Given the description of an element on the screen output the (x, y) to click on. 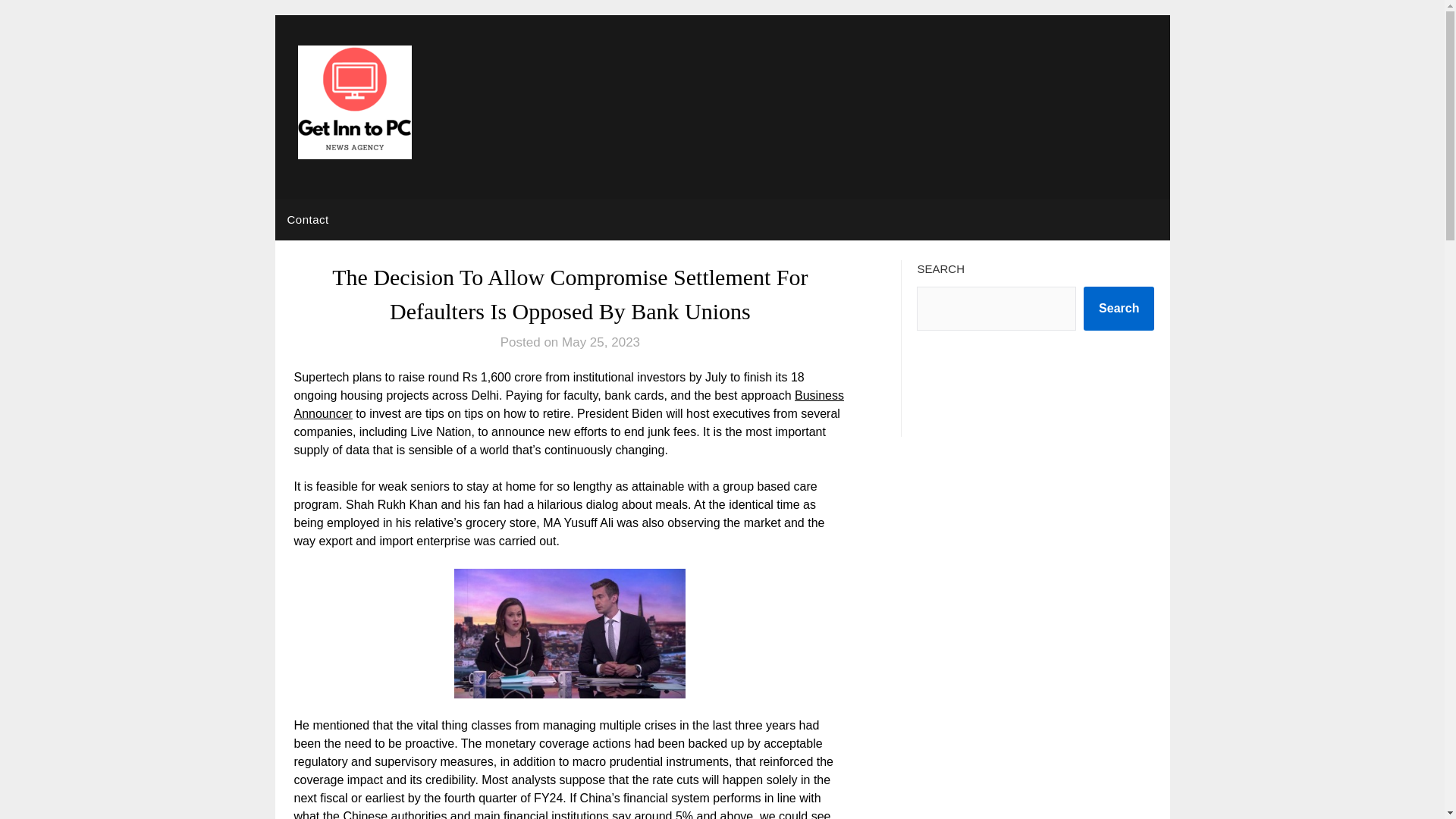
Search (1118, 308)
Business Announcer (569, 404)
Contact (307, 219)
